Given the description of an element on the screen output the (x, y) to click on. 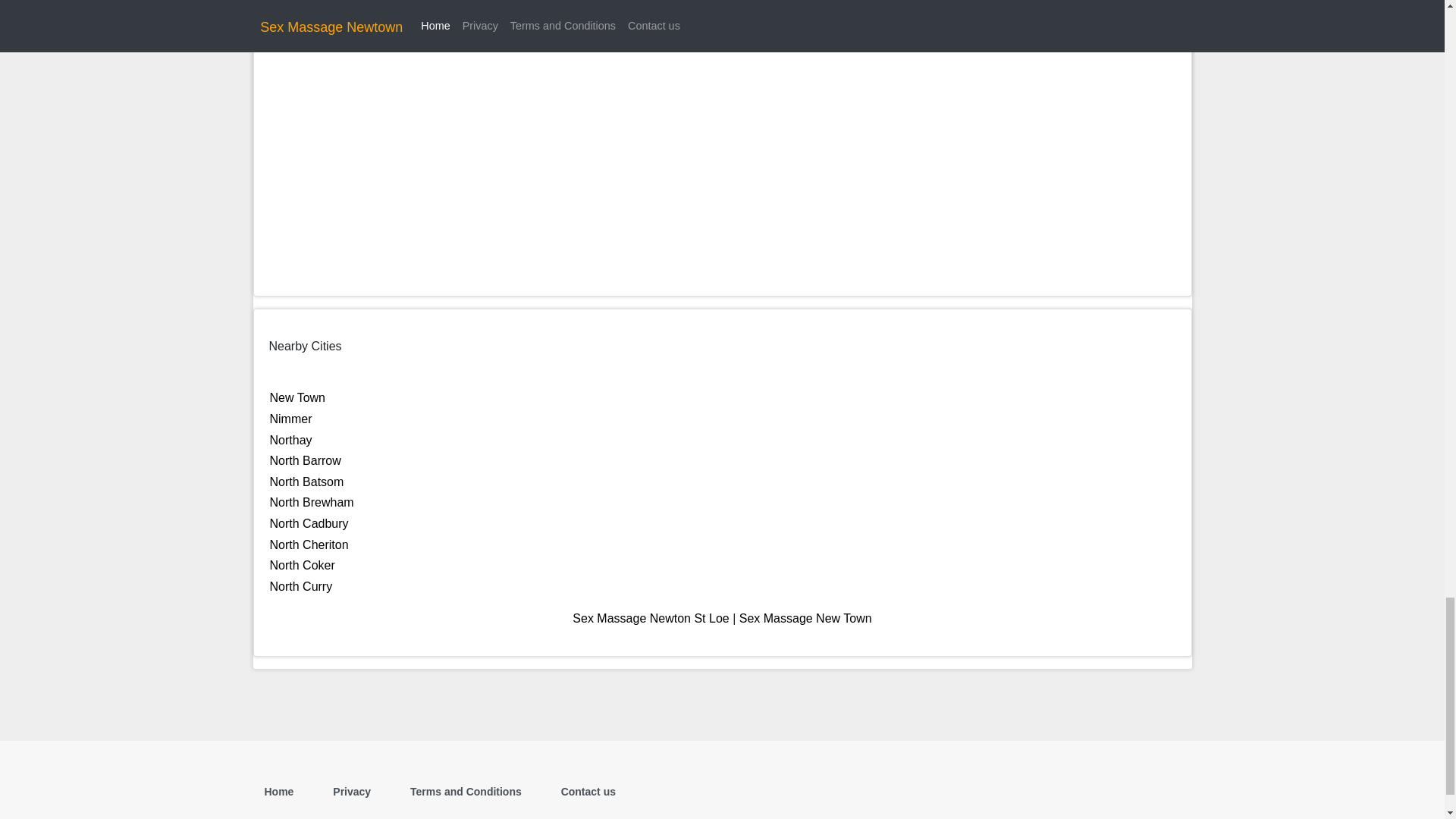
New Town (297, 397)
North Coker (301, 564)
North Cadbury (309, 522)
North Batsom (306, 481)
North Barrow (304, 460)
North Brewham (311, 502)
North Cheriton (309, 544)
Sex Massage New Town (805, 617)
Nimmer (291, 418)
North Curry (301, 585)
Northay (291, 440)
Sex Massage Newton St Loe (650, 617)
